Given the description of an element on the screen output the (x, y) to click on. 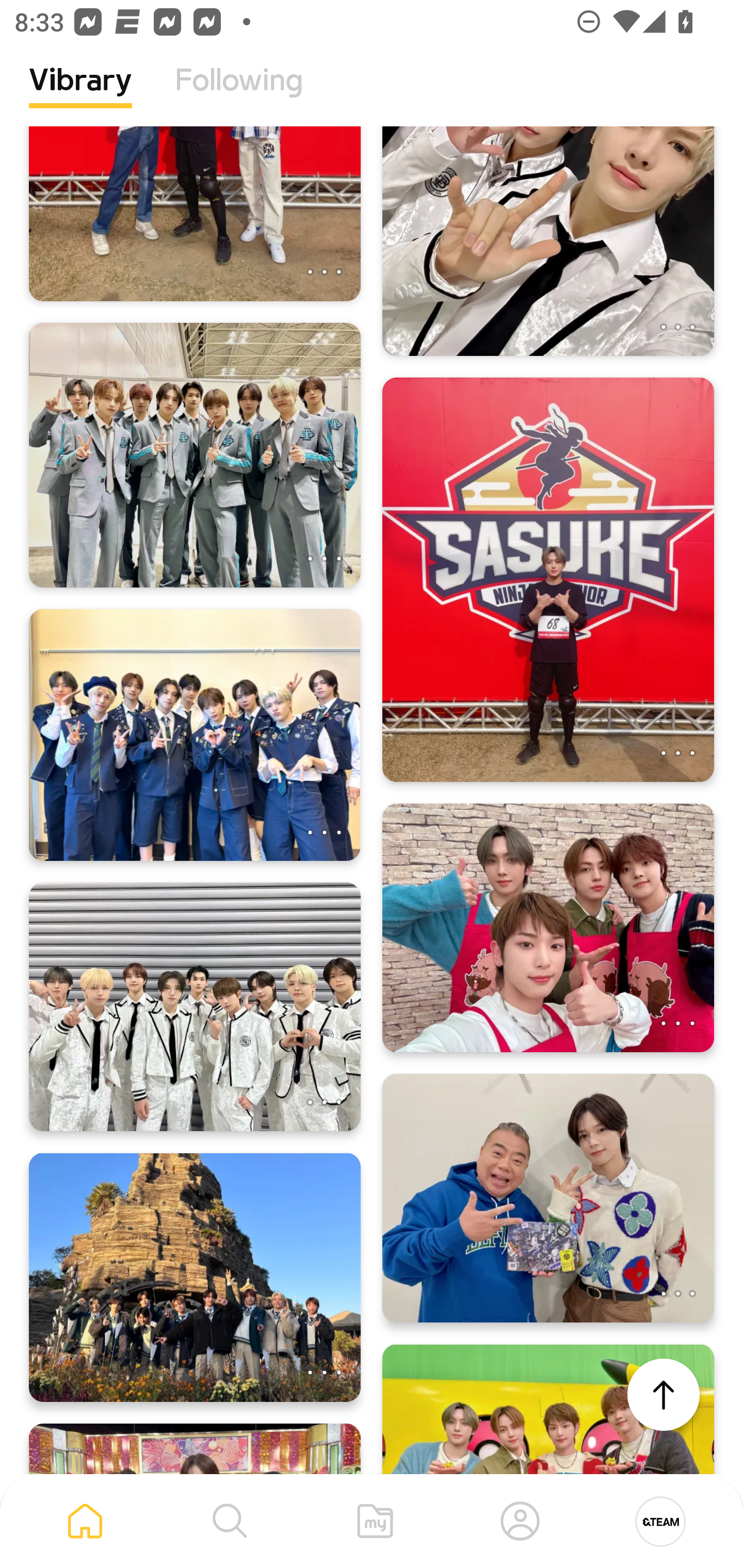
Vibrary (80, 95)
Following (239, 95)
